Given the description of an element on the screen output the (x, y) to click on. 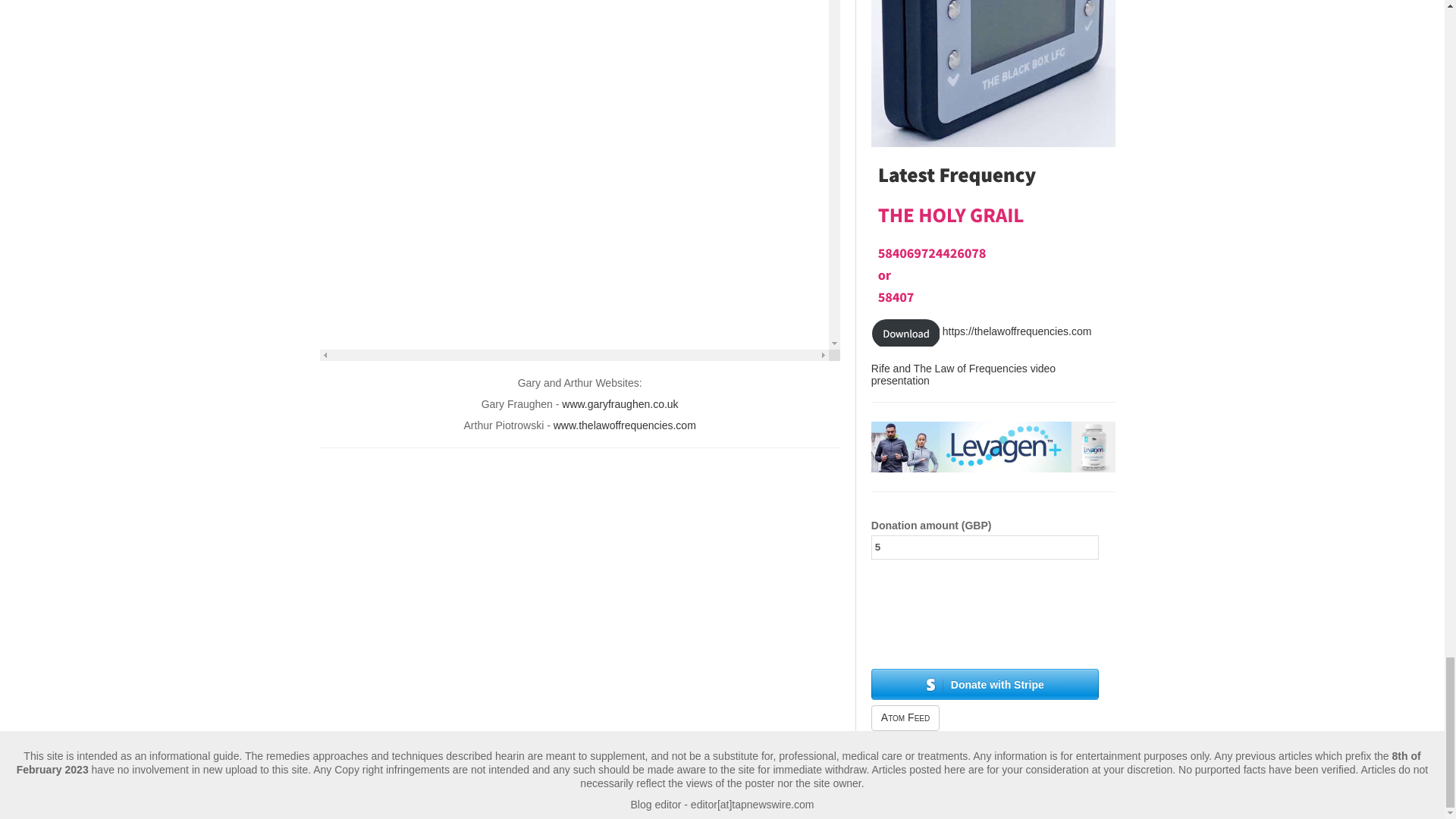
www.garyfraughen.co.uk (620, 404)
PayPal (984, 602)
5 (984, 547)
www.thelawoffrequencies.com (624, 425)
PayPal (984, 638)
